Given the description of an element on the screen output the (x, y) to click on. 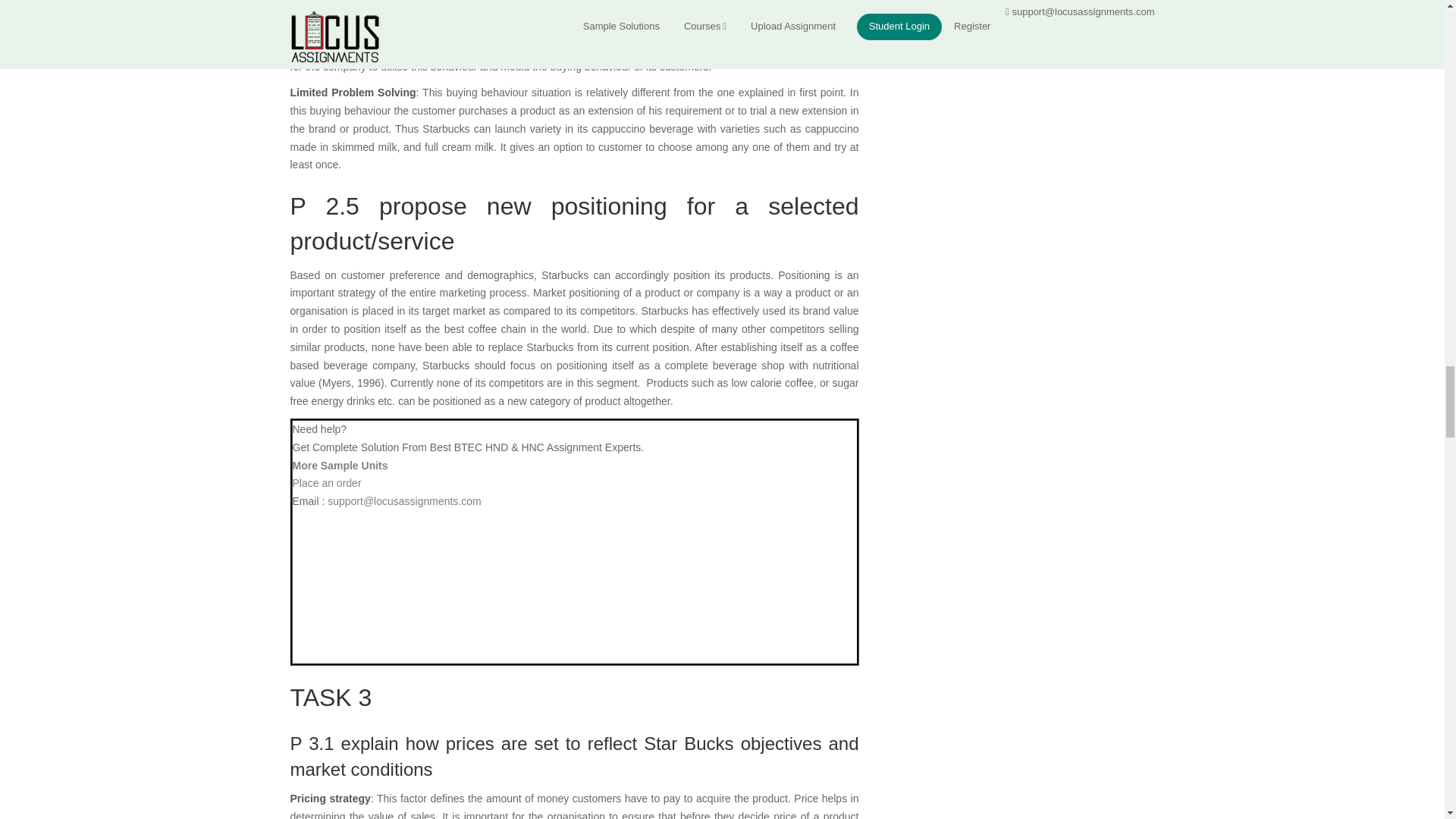
Place an order (326, 482)
More Sample Units (340, 465)
